Given the description of an element on the screen output the (x, y) to click on. 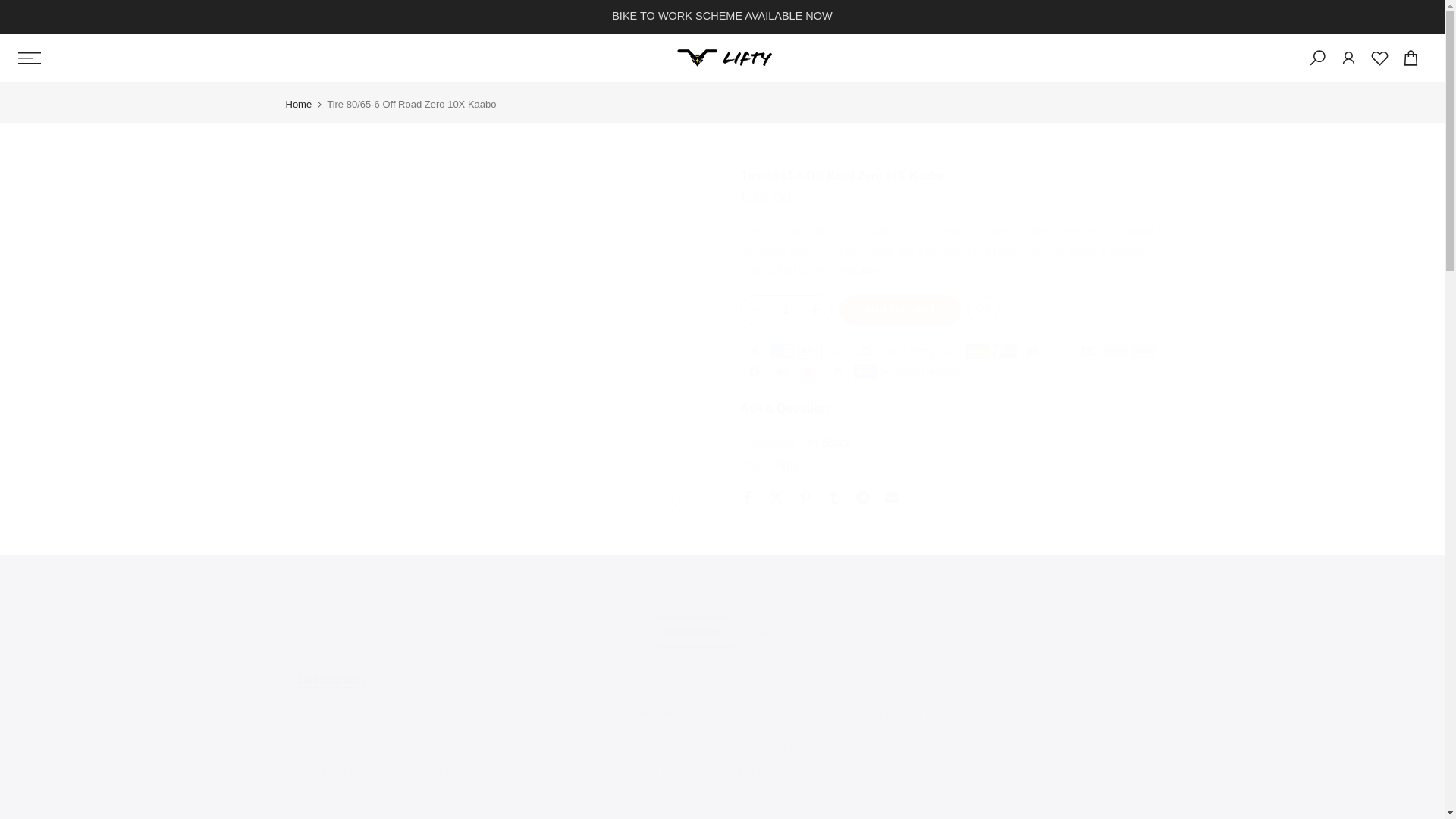
Share on Twitter (775, 497)
Skip to content (10, 7)
Share on Tumblr (833, 497)
Tires (786, 465)
1 (786, 309)
Home (298, 103)
Description (330, 680)
Share on Pinterest (803, 497)
ADD TO CART (898, 309)
Share on Facebook (746, 497)
